Given the description of an element on the screen output the (x, y) to click on. 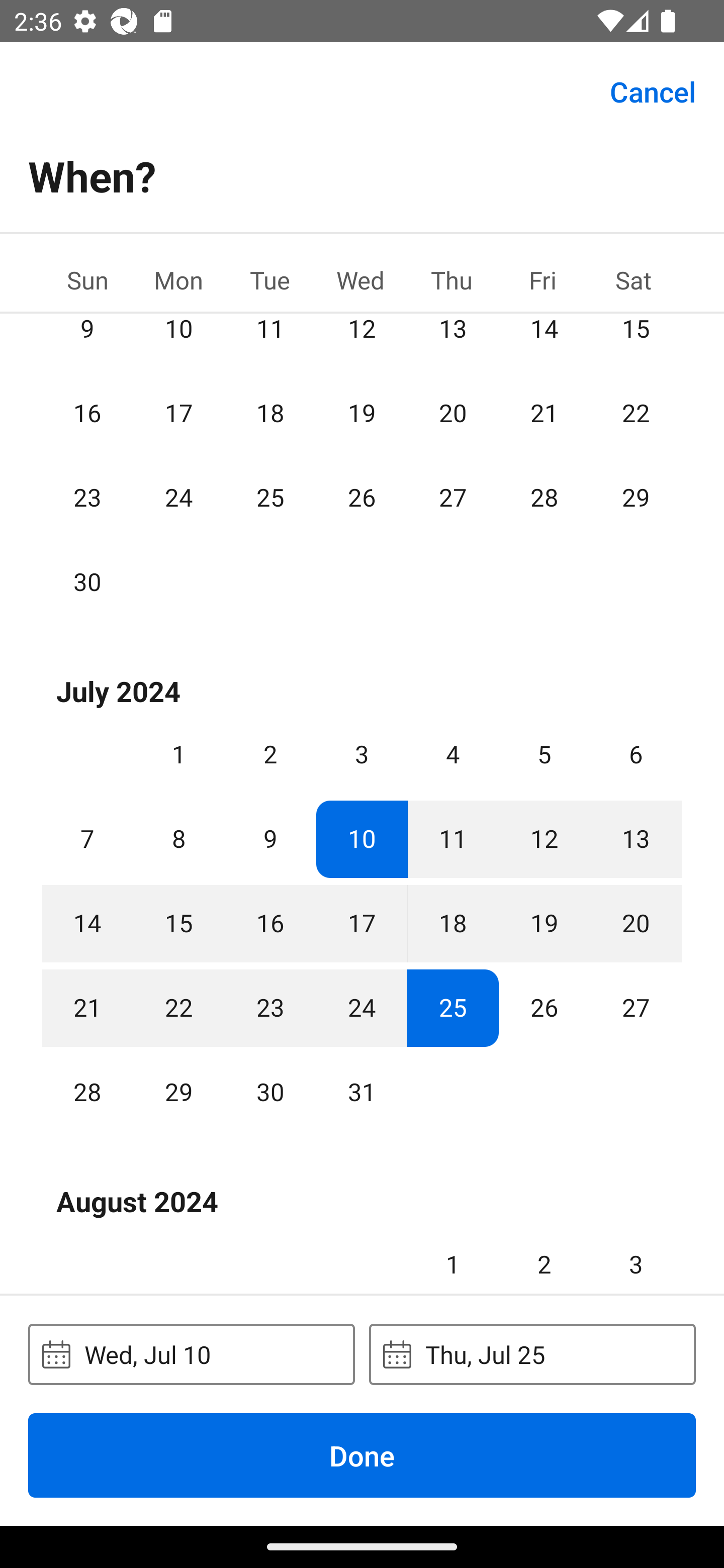
Cancel (652, 90)
Wed, Jul 10 (191, 1353)
Thu, Jul 25 (532, 1353)
Done (361, 1454)
